Given the description of an element on the screen output the (x, y) to click on. 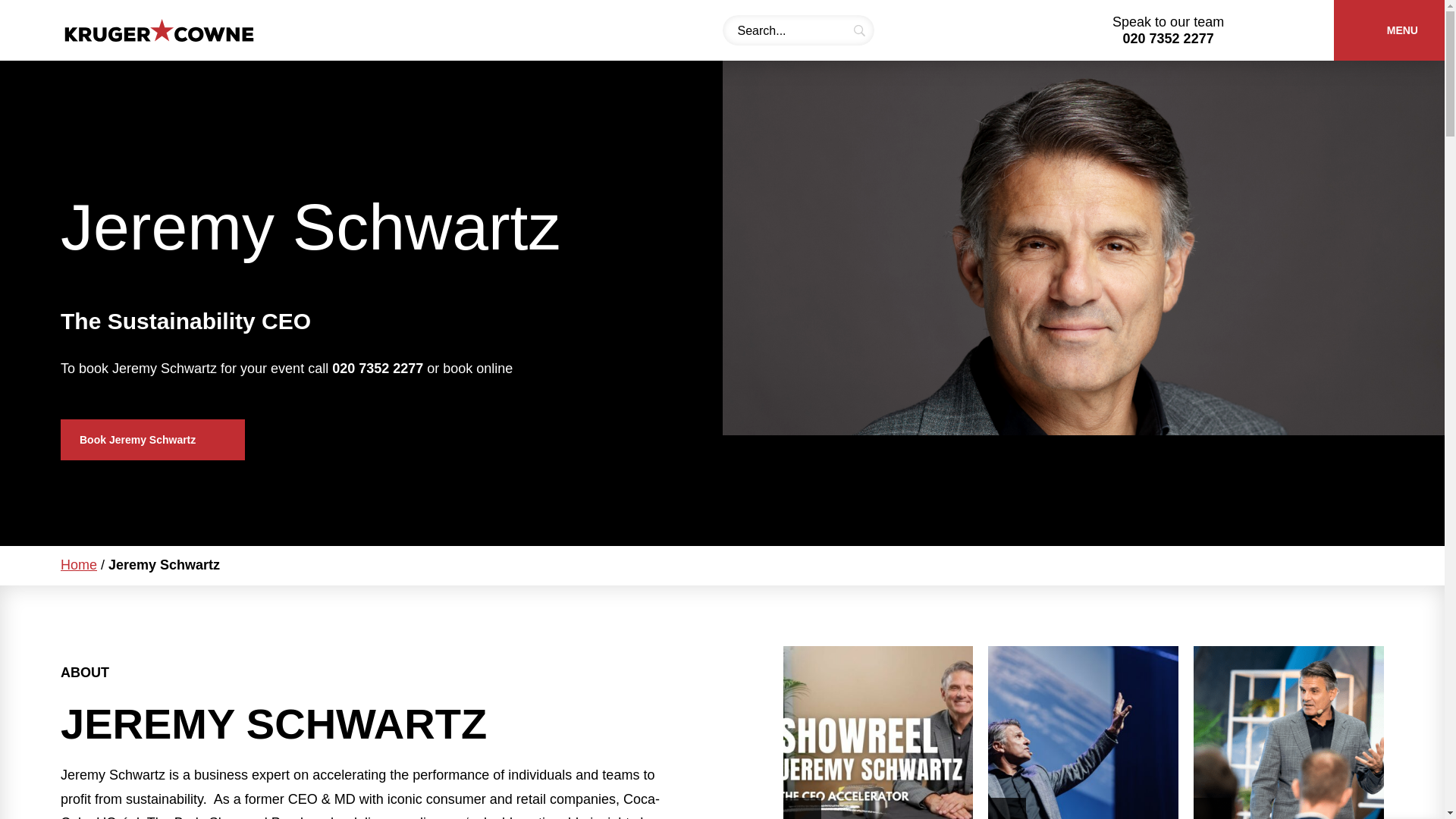
020 7352 2277 (1168, 38)
020 7352 2277 (377, 368)
Search... (797, 30)
Book Jeremy Schwartz (152, 440)
Home (79, 564)
